Given the description of an element on the screen output the (x, y) to click on. 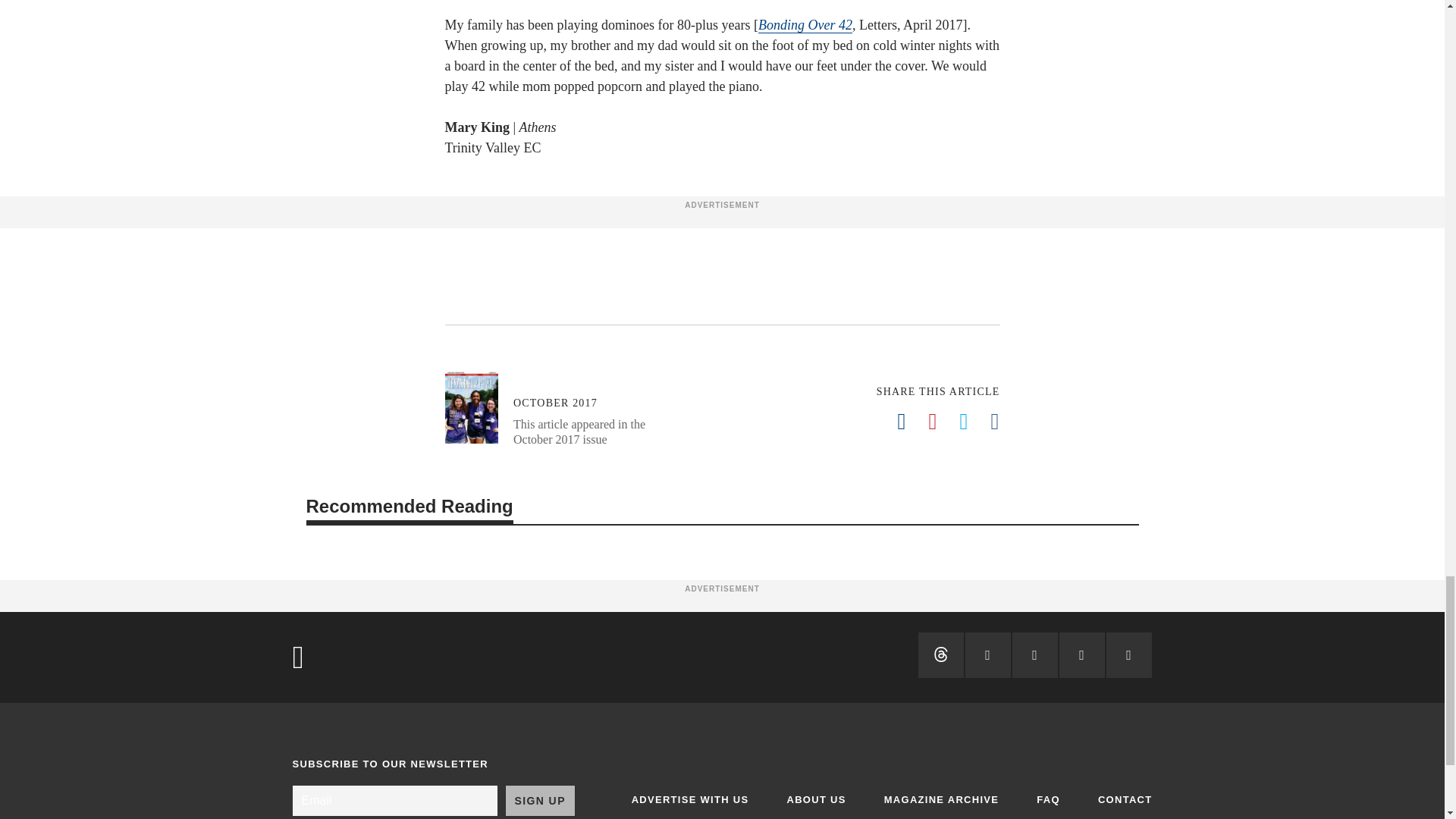
April 2017 Letters (804, 25)
